Given the description of an element on the screen output the (x, y) to click on. 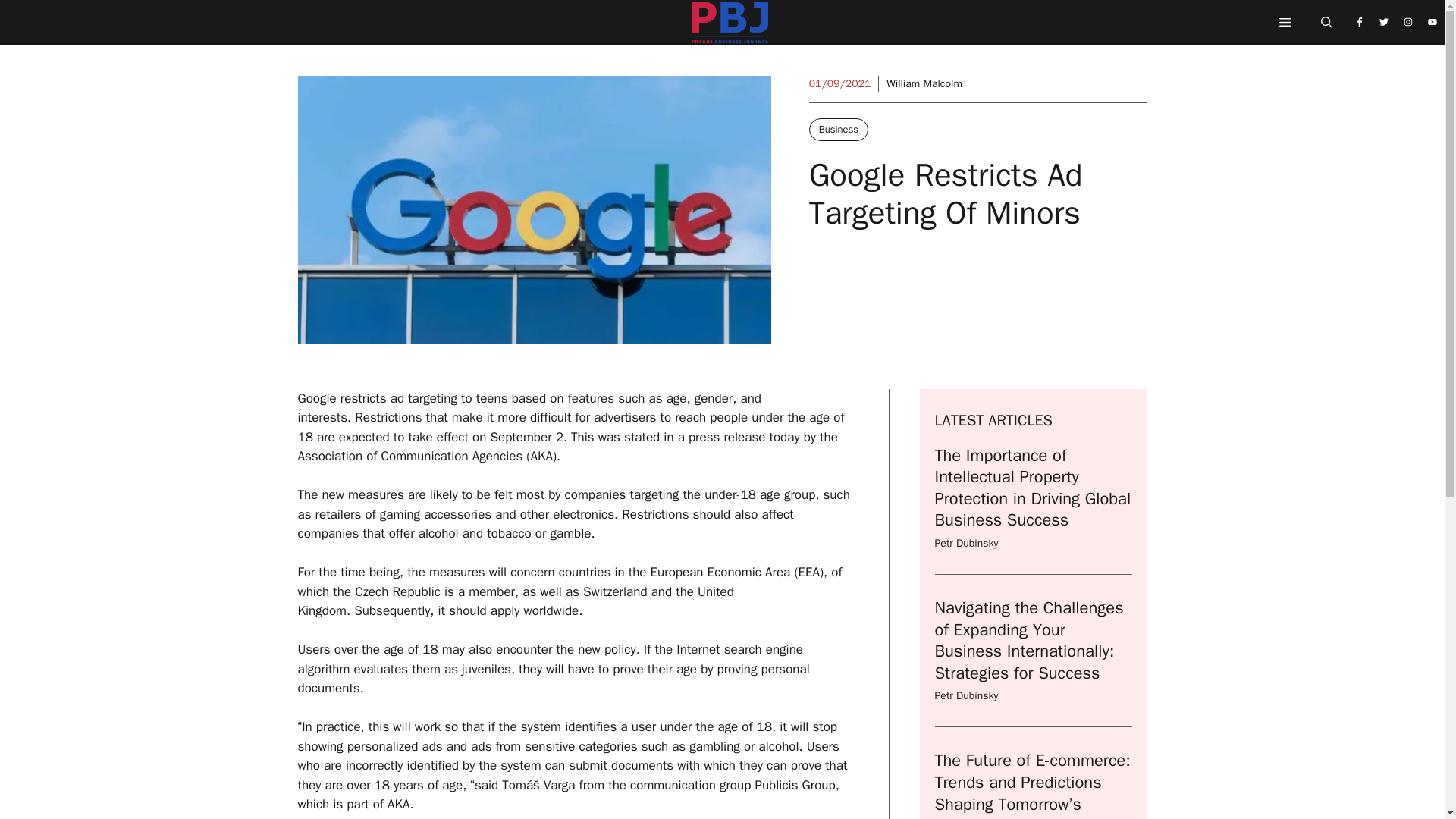
Prague Business Journal (730, 26)
Petr Dubinsky (965, 543)
Petr Dubinsky (965, 695)
Business (838, 128)
William Malcolm (924, 83)
